Given the description of an element on the screen output the (x, y) to click on. 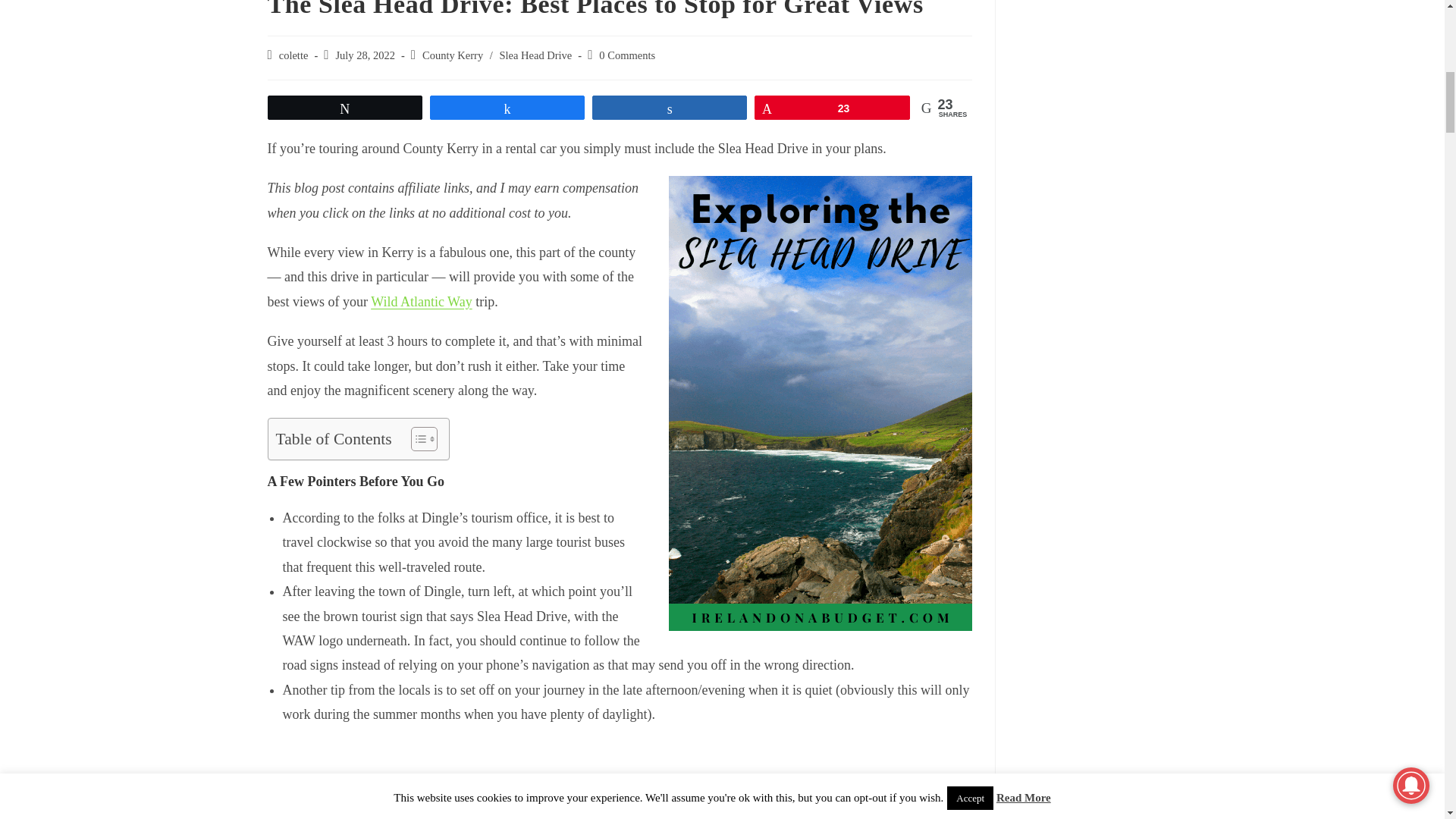
Posts by colette (293, 55)
